Given the description of an element on the screen output the (x, y) to click on. 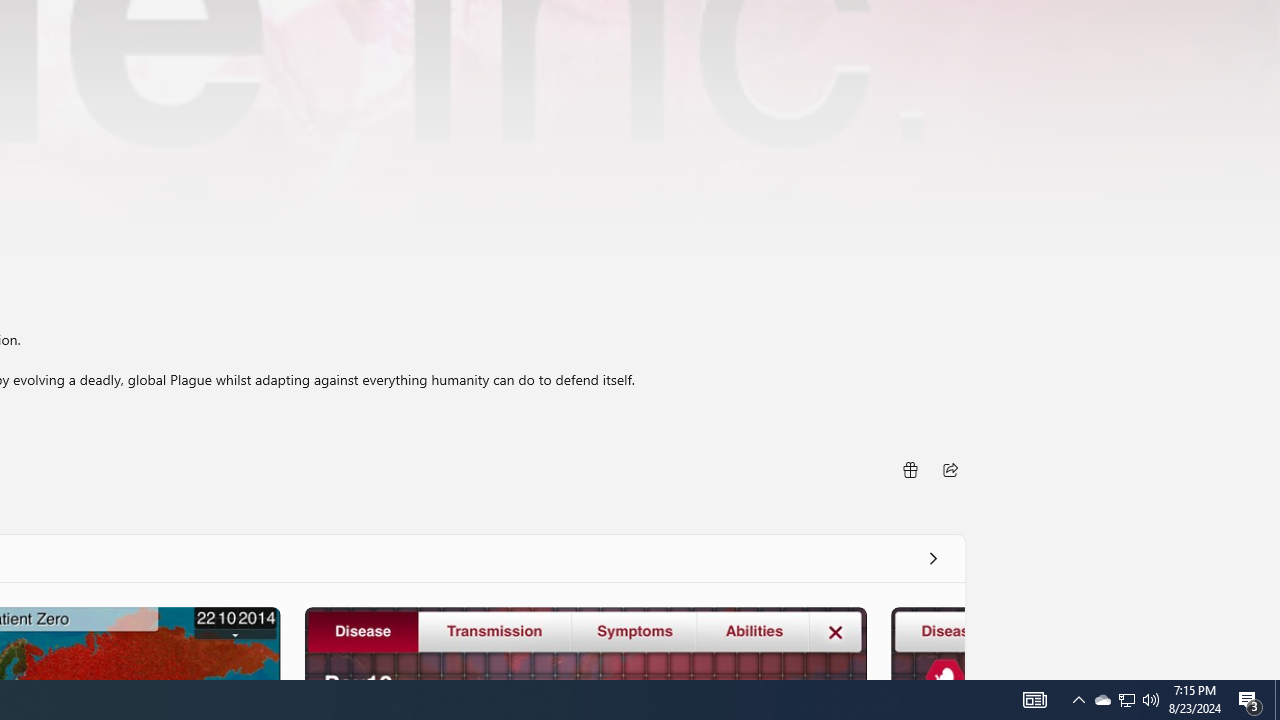
See all (932, 557)
Screenshot 4 (926, 642)
Screenshot 3 (585, 642)
Share (950, 468)
Buy as gift (909, 468)
